Given the description of an element on the screen output the (x, y) to click on. 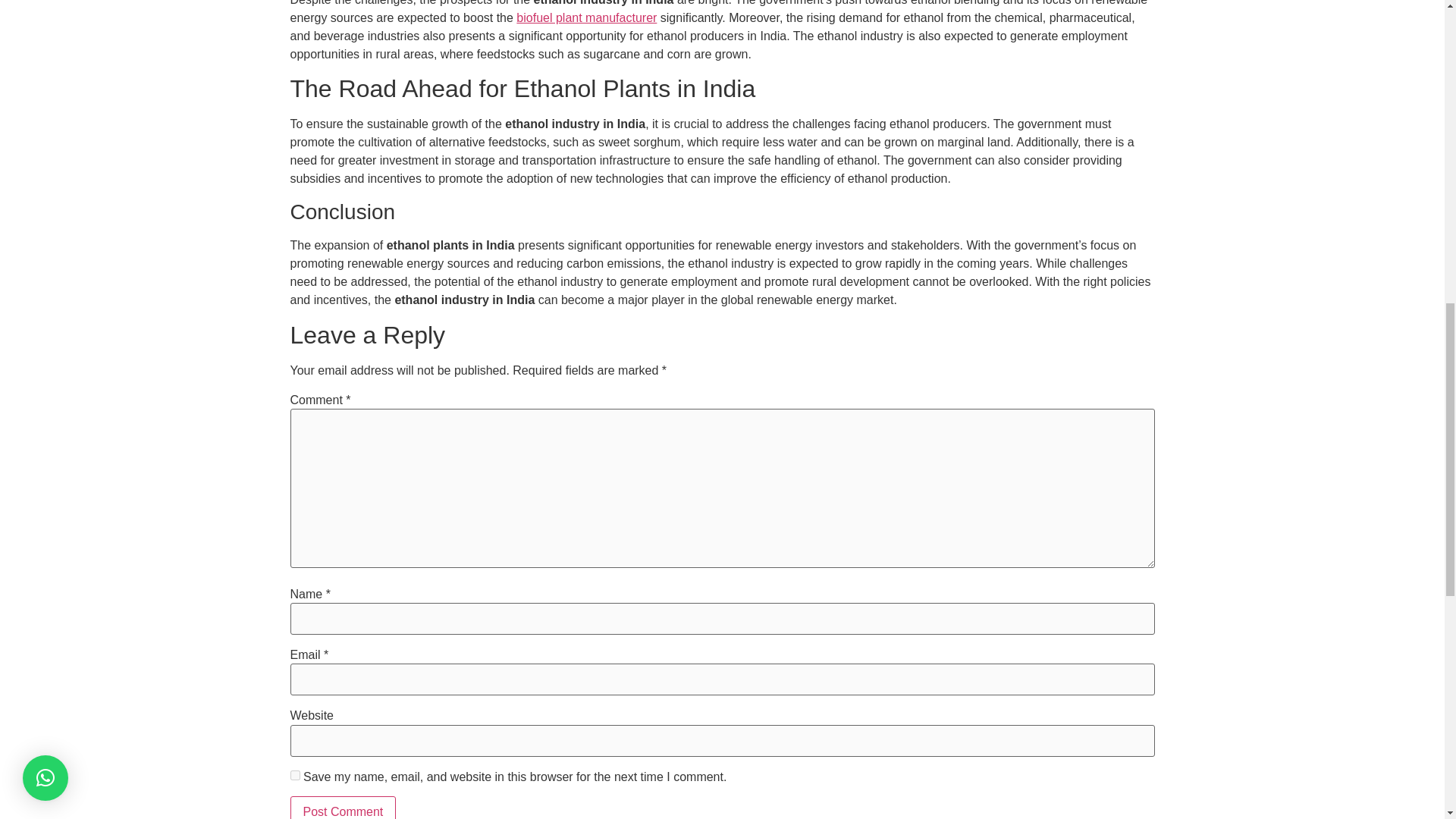
Post Comment (342, 807)
Post Comment (342, 807)
biofuel plant manufacturer (586, 17)
yes (294, 775)
